Given the description of an element on the screen output the (x, y) to click on. 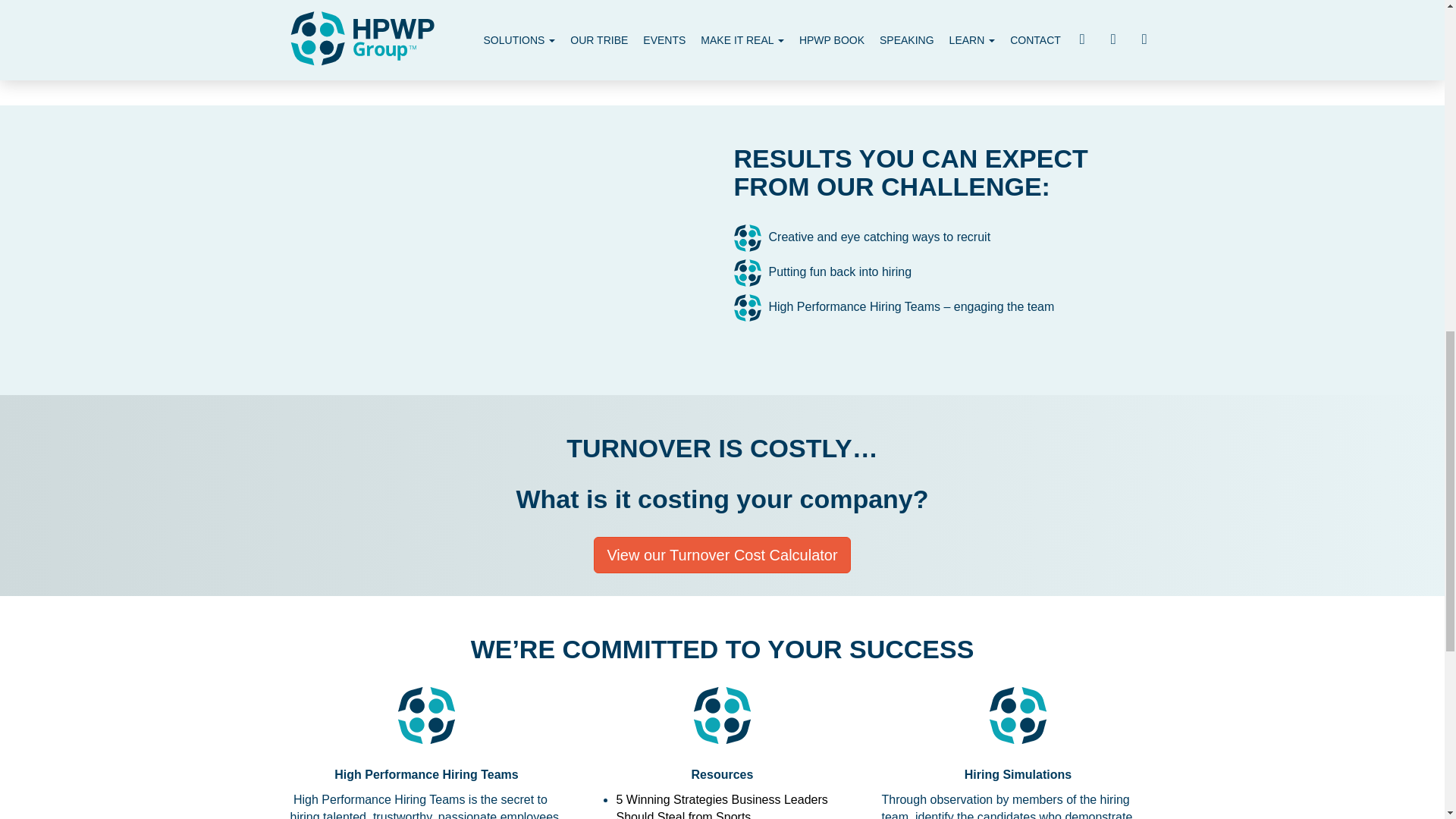
Register now! (500, 37)
View our Turnover Cost Calculator (722, 555)
YouTube video player (501, 246)
